Given the description of an element on the screen output the (x, y) to click on. 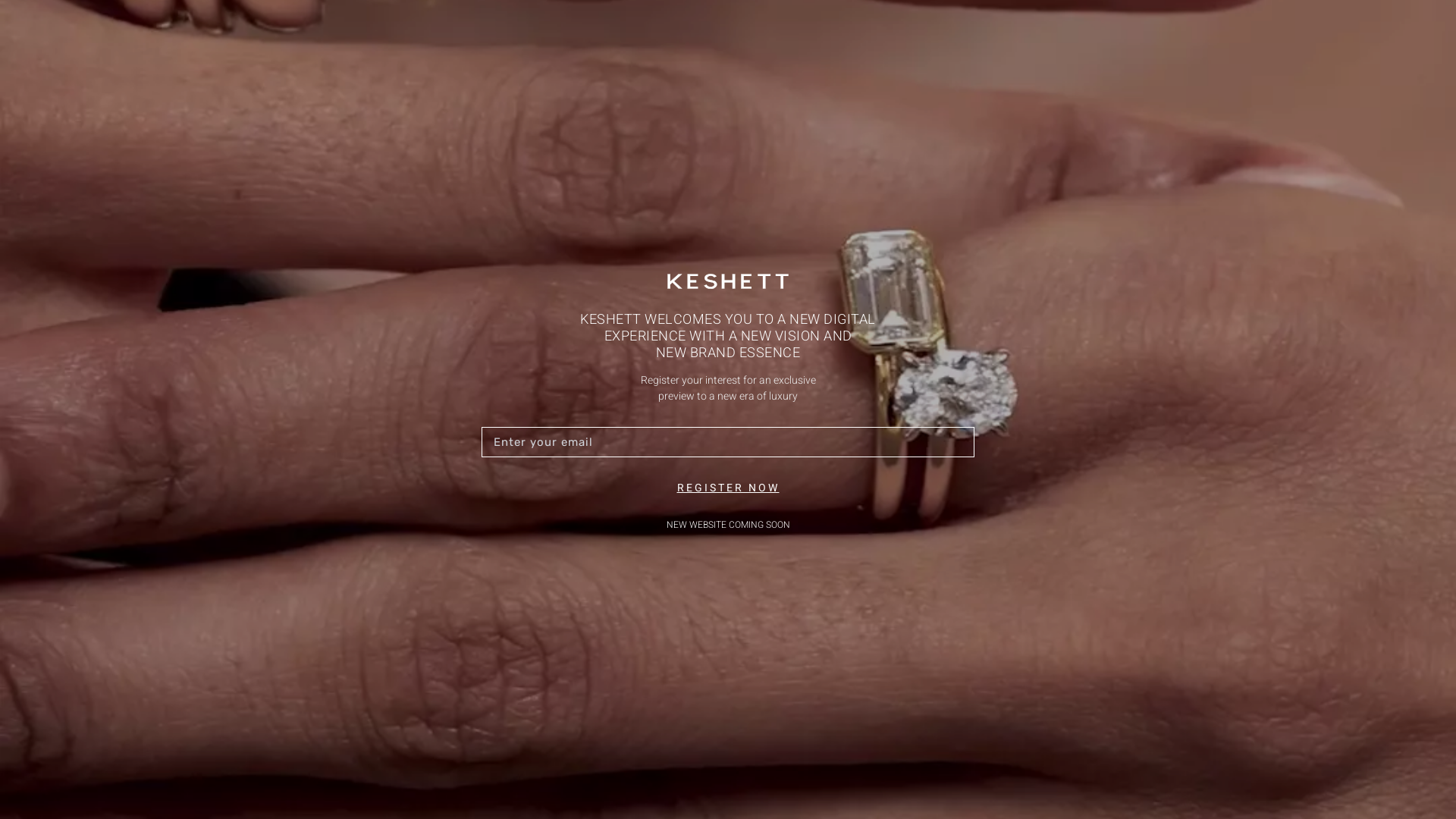
REGISTER NOW Element type: text (727, 487)
